Given the description of an element on the screen output the (x, y) to click on. 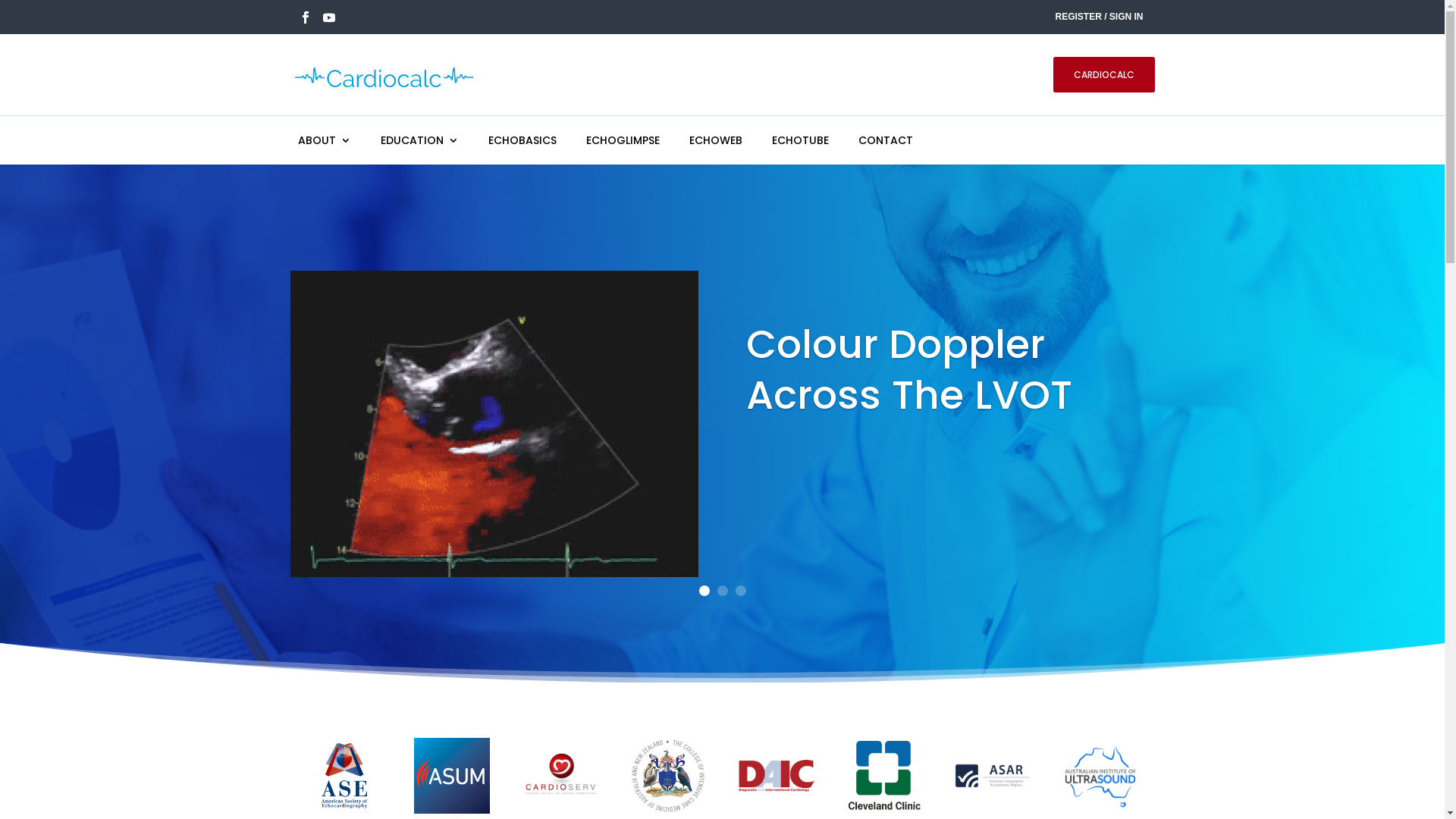
ECHOWEB Element type: text (714, 139)
ECHOTUBE Element type: text (799, 139)
ECHOGLIMPSE Element type: text (621, 139)
ECHOBASICS Element type: text (522, 139)
CONTACT Element type: text (885, 139)
1 Element type: text (704, 590)
EDUCATION Element type: text (419, 139)
REGISTER / SIGN IN Element type: text (1098, 18)
3 Element type: text (740, 590)
ABOUT Element type: text (323, 139)
2 Element type: text (722, 590)
CARDIOCALC Element type: text (1103, 74)
